Given the description of an element on the screen output the (x, y) to click on. 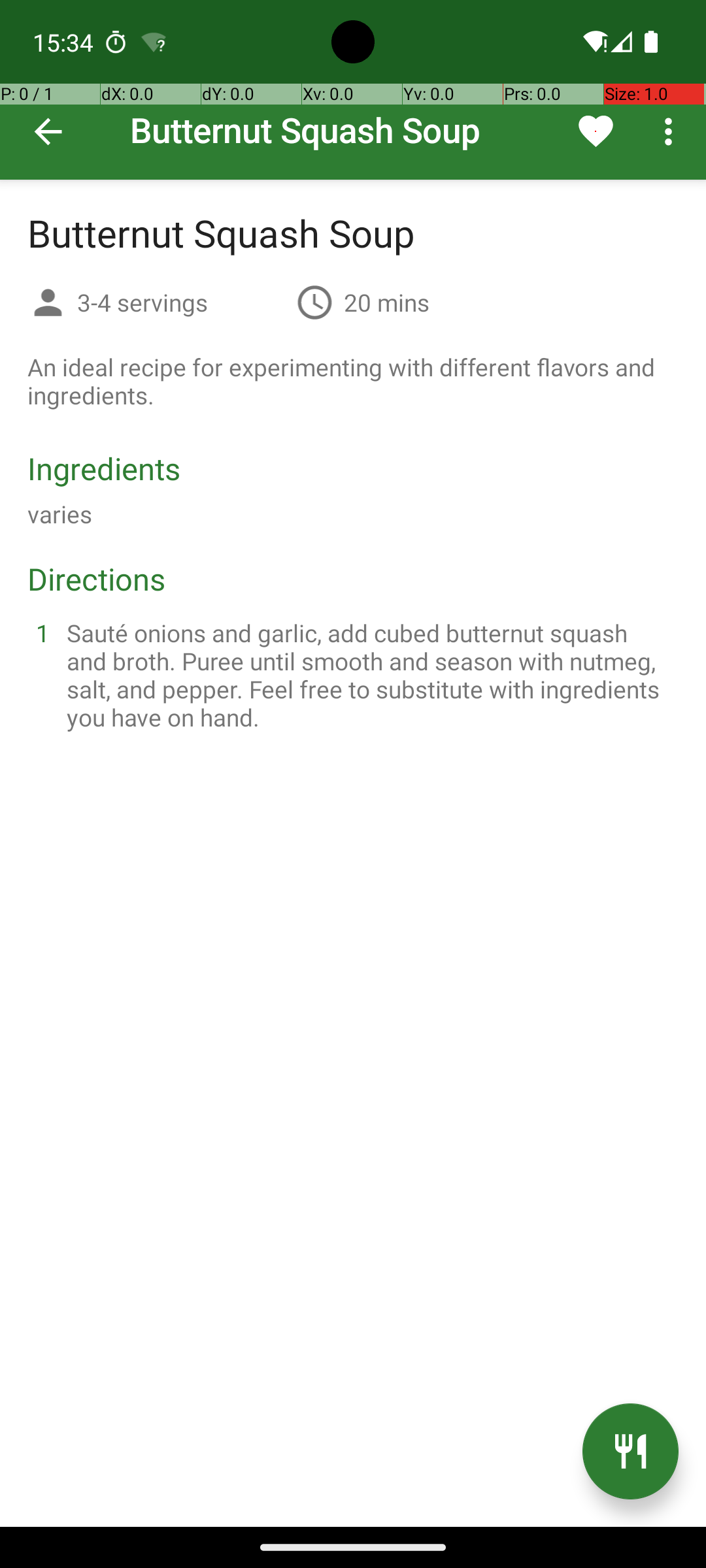
Sauté onions and garlic, add cubed butternut squash and broth. Puree until smooth and season with nutmeg, salt, and pepper. Feel free to substitute with ingredients you have on hand. Element type: android.widget.TextView (368, 674)
